Given the description of an element on the screen output the (x, y) to click on. 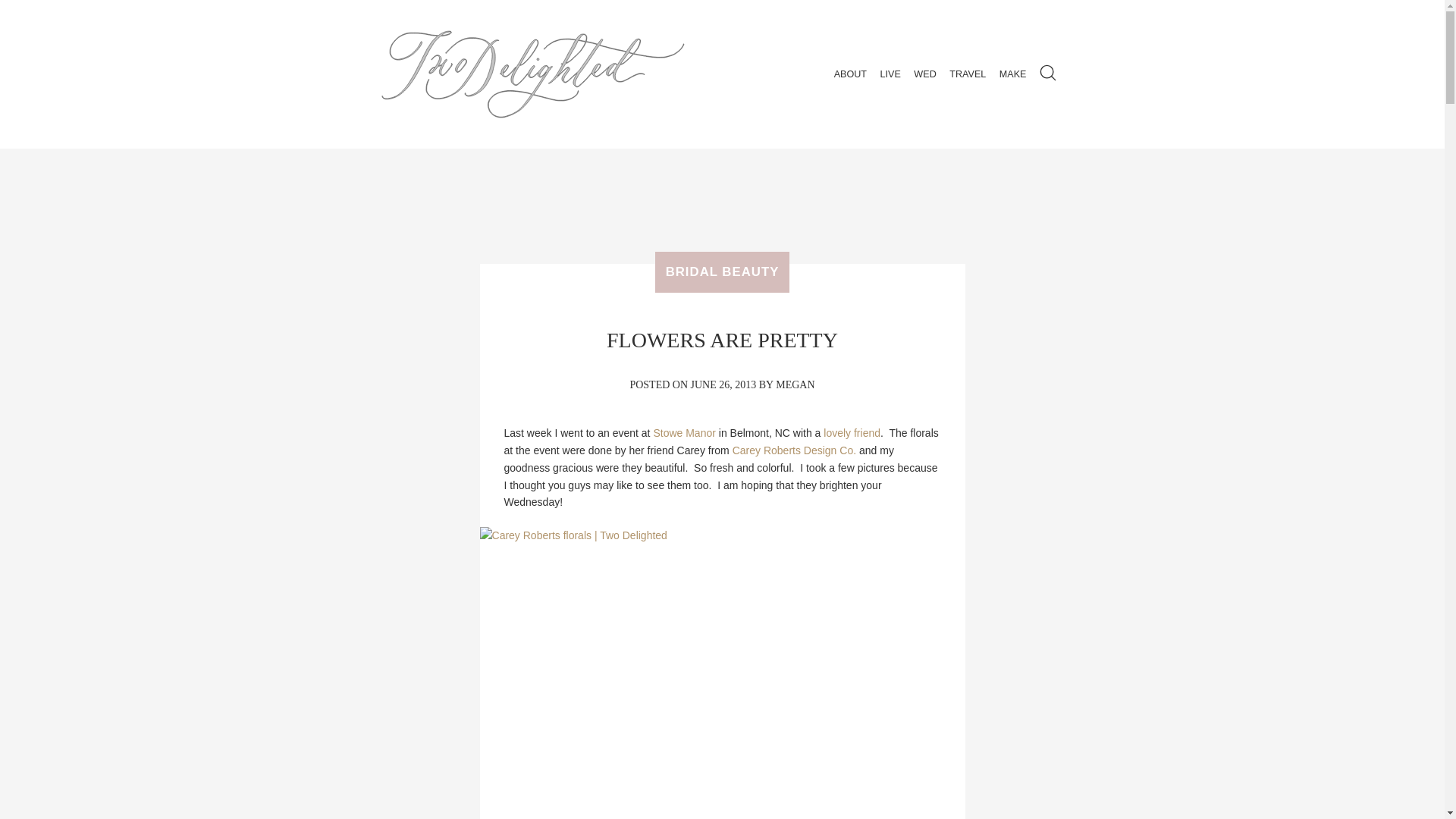
Stowe Manor (683, 432)
Flowers Are Pretty (722, 340)
lovely friend (852, 432)
LIVE (890, 73)
TRAVEL (967, 73)
MAKE (1013, 73)
Carey Roberts Design Co. (794, 450)
FLOWERS ARE PRETTY (722, 340)
ABOUT (850, 73)
WED (924, 73)
